Given the description of an element on the screen output the (x, y) to click on. 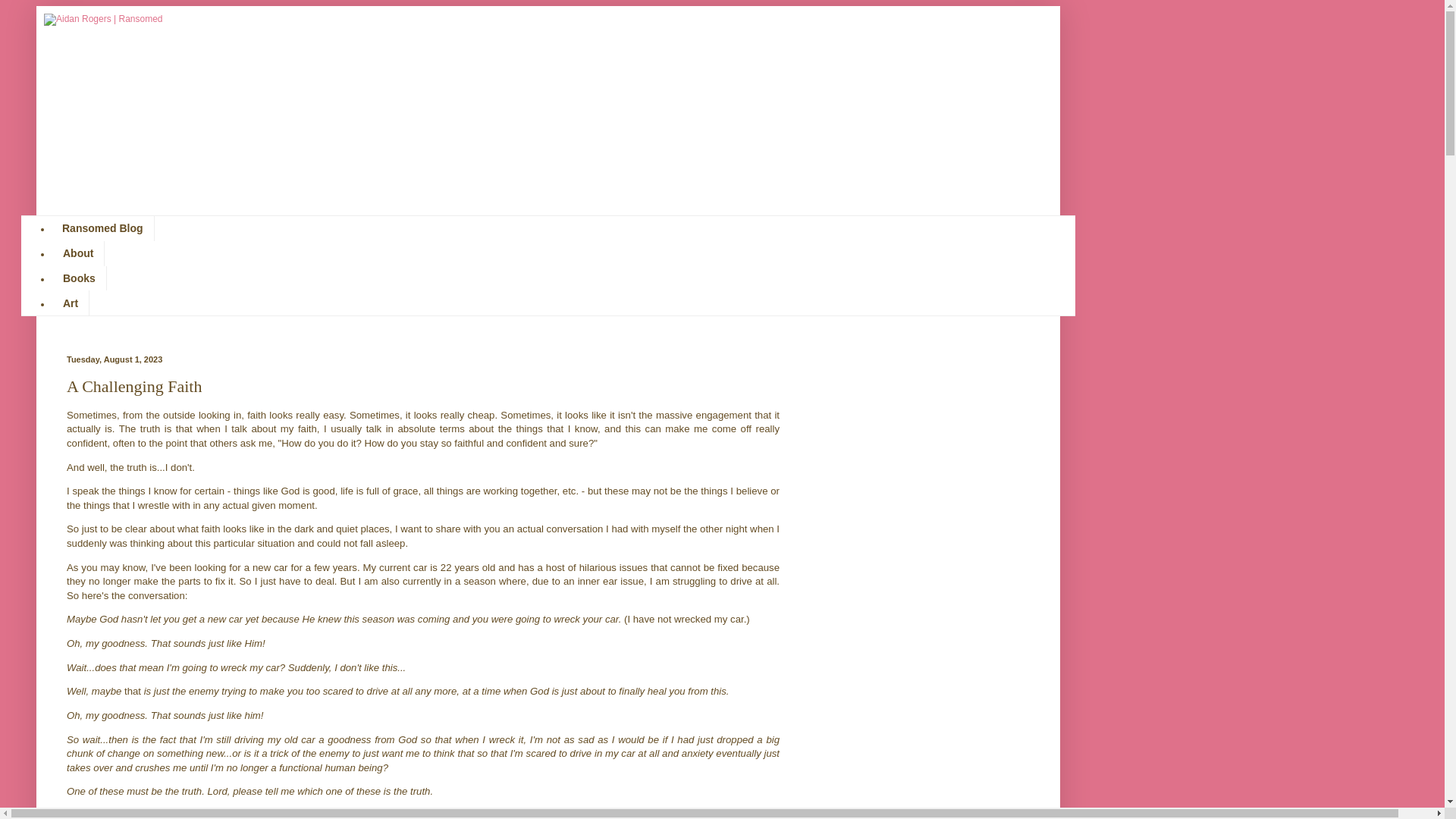
About (77, 253)
Ransomed Blog (102, 228)
Books (78, 278)
Art (69, 302)
